Given the description of an element on the screen output the (x, y) to click on. 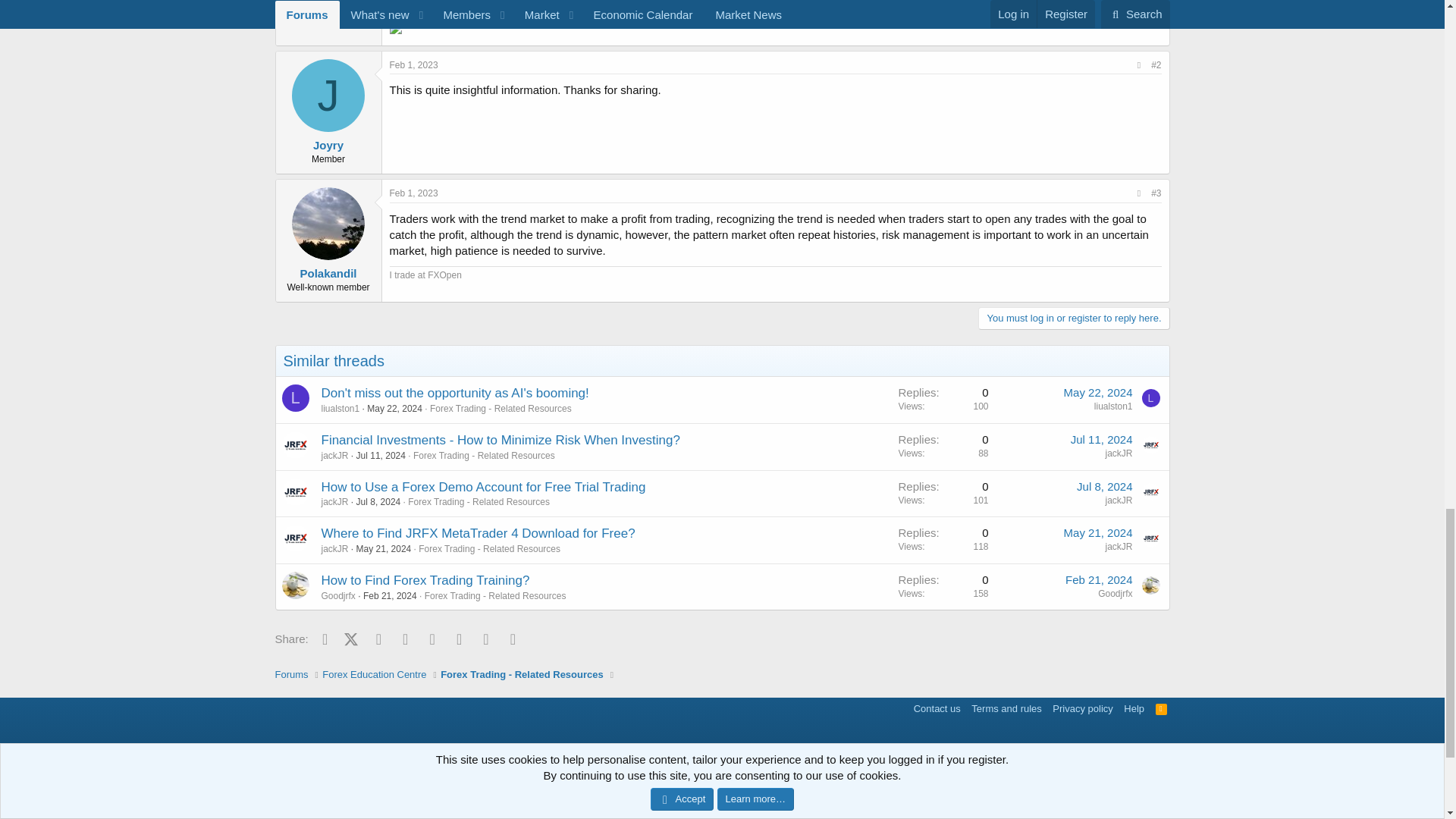
May 22, 2024 at 7:02 AM (1098, 391)
May 22, 2024 at 7:02 AM (394, 408)
Feb 1, 2023 at 10:55 AM (414, 64)
Feb 1, 2023 at 9:48 PM (414, 193)
First message reaction score: 0 (942, 446)
Jul 8, 2024 at 8:43 AM (378, 501)
First message reaction score: 0 (942, 399)
Jul 8, 2024 at 8:43 AM (1104, 486)
Jul 11, 2024 at 8:00 AM (381, 455)
First message reaction score: 0 (942, 493)
